Given the description of an element on the screen output the (x, y) to click on. 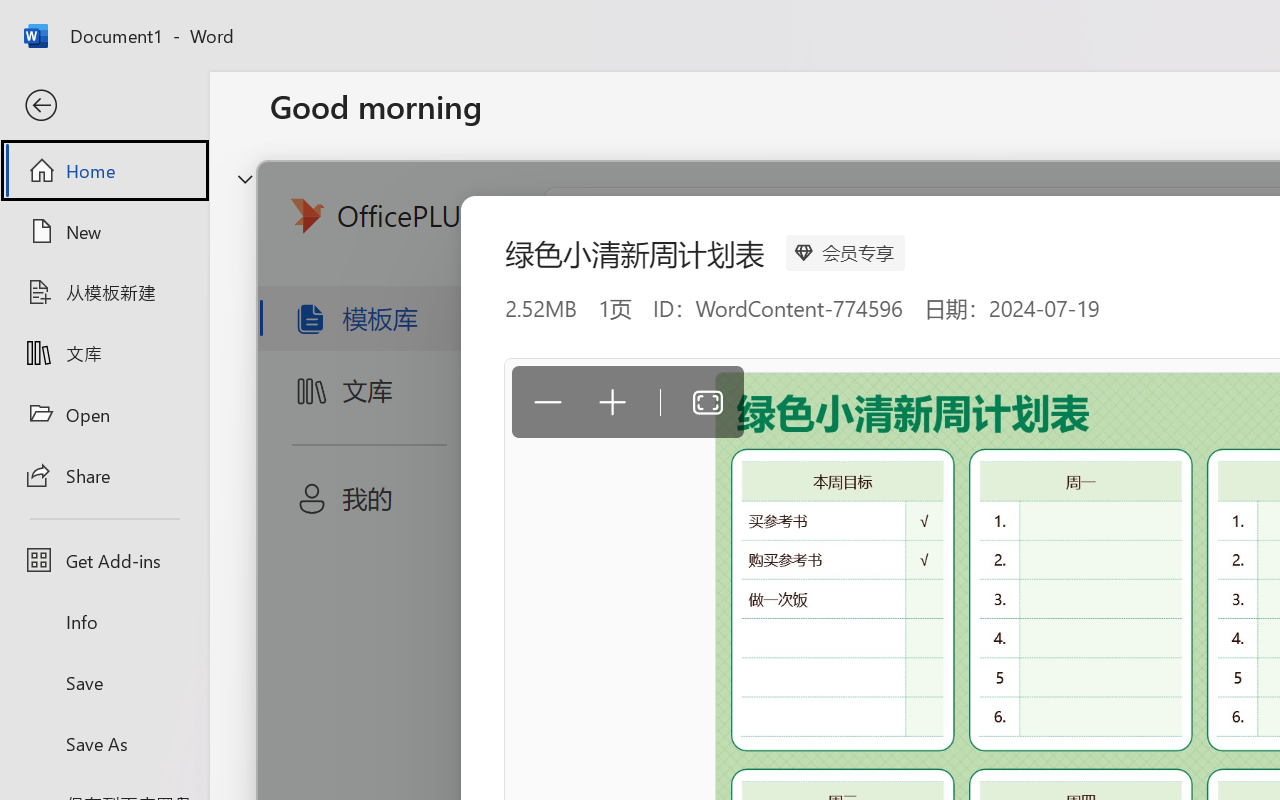
Back (104, 106)
Pinned (417, 636)
Shared with Me (563, 636)
Blank document (405, 332)
Save As (104, 743)
Hide or show region (245, 178)
